Given the description of an element on the screen output the (x, y) to click on. 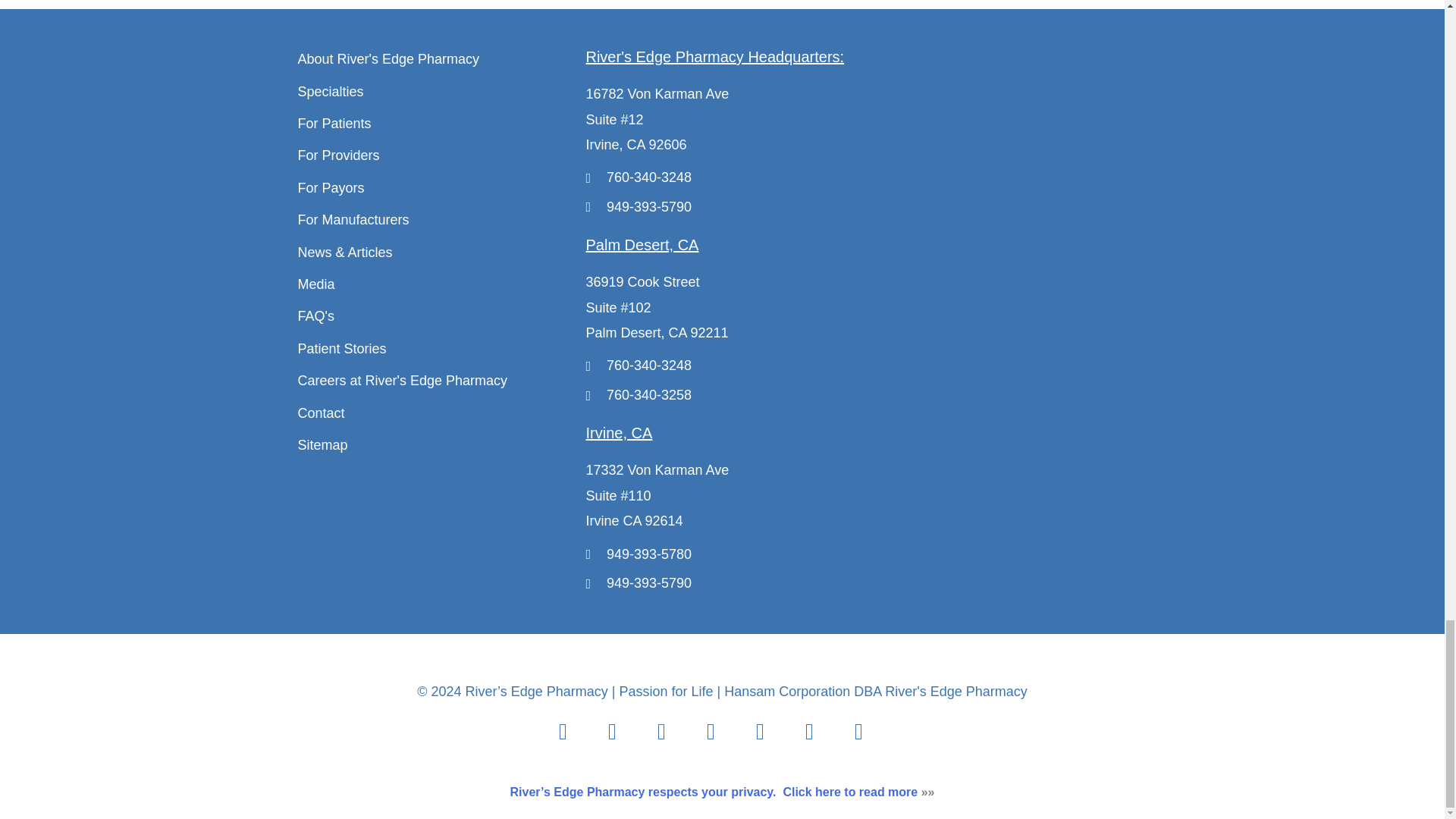
About River's Edge Pharmacy (433, 59)
Specialties (433, 91)
For Payors (433, 188)
For Patients (433, 123)
Media (433, 284)
For Manufacturers (433, 220)
For Providers (433, 155)
FAQ's (433, 316)
Patient Stories (433, 348)
